Given the description of an element on the screen output the (x, y) to click on. 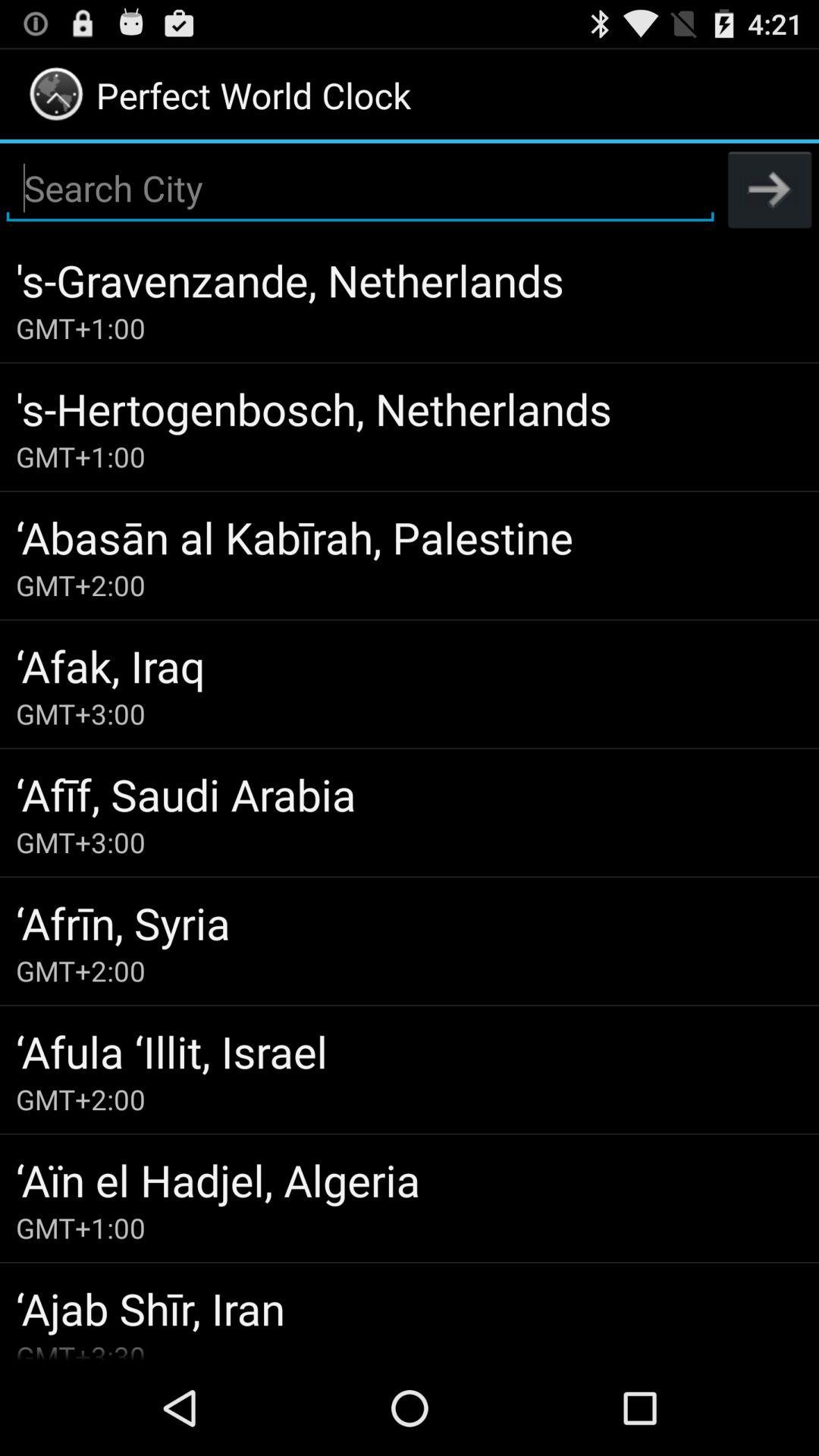
tap app above gmt+2:00 item (409, 1051)
